Given the description of an element on the screen output the (x, y) to click on. 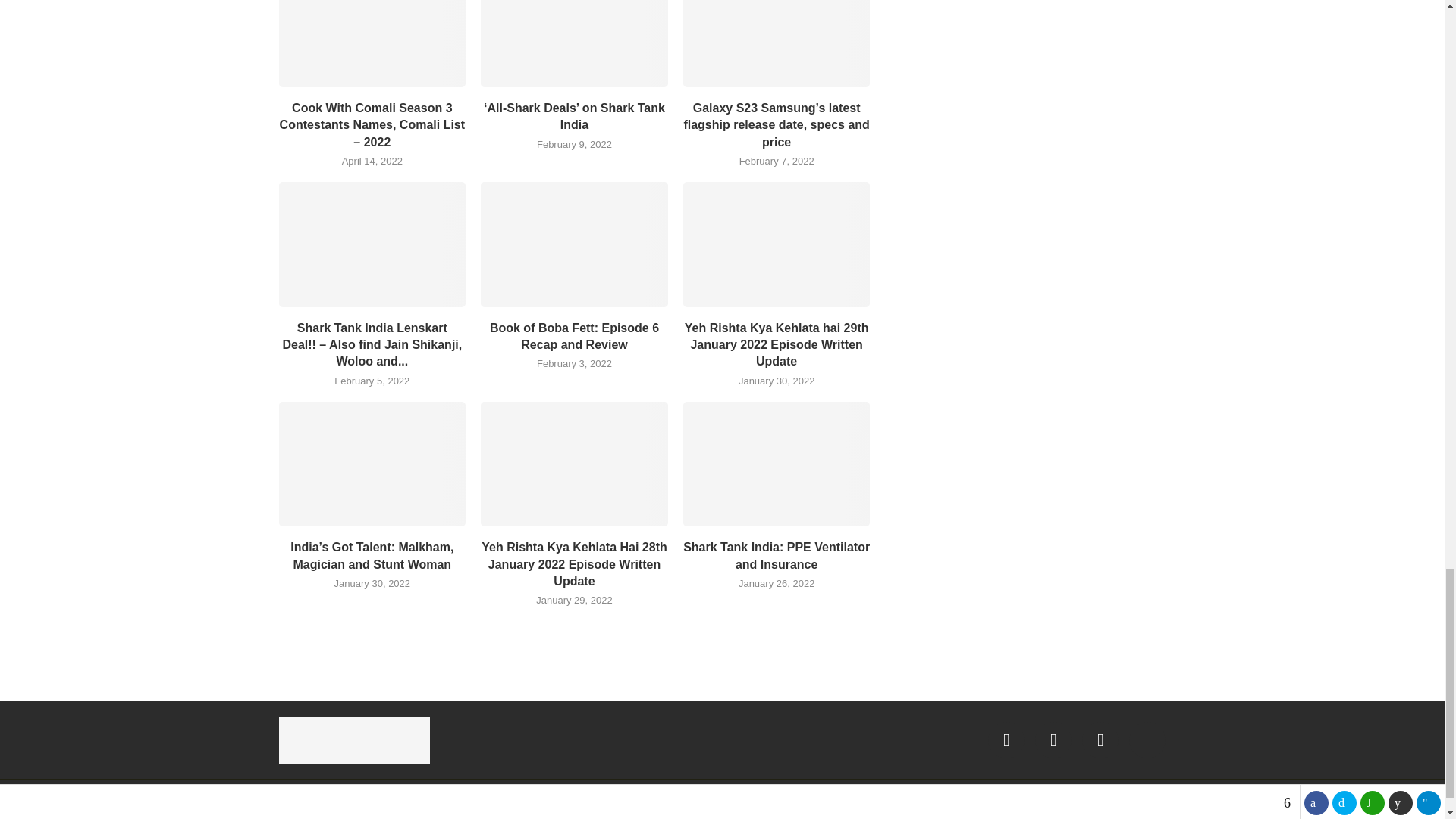
Shark Tank India: PPE Ventilator and Insurance (776, 464)
Book of Boba Fett: Episode 6 Recap and Review (574, 243)
